Given the description of an element on the screen output the (x, y) to click on. 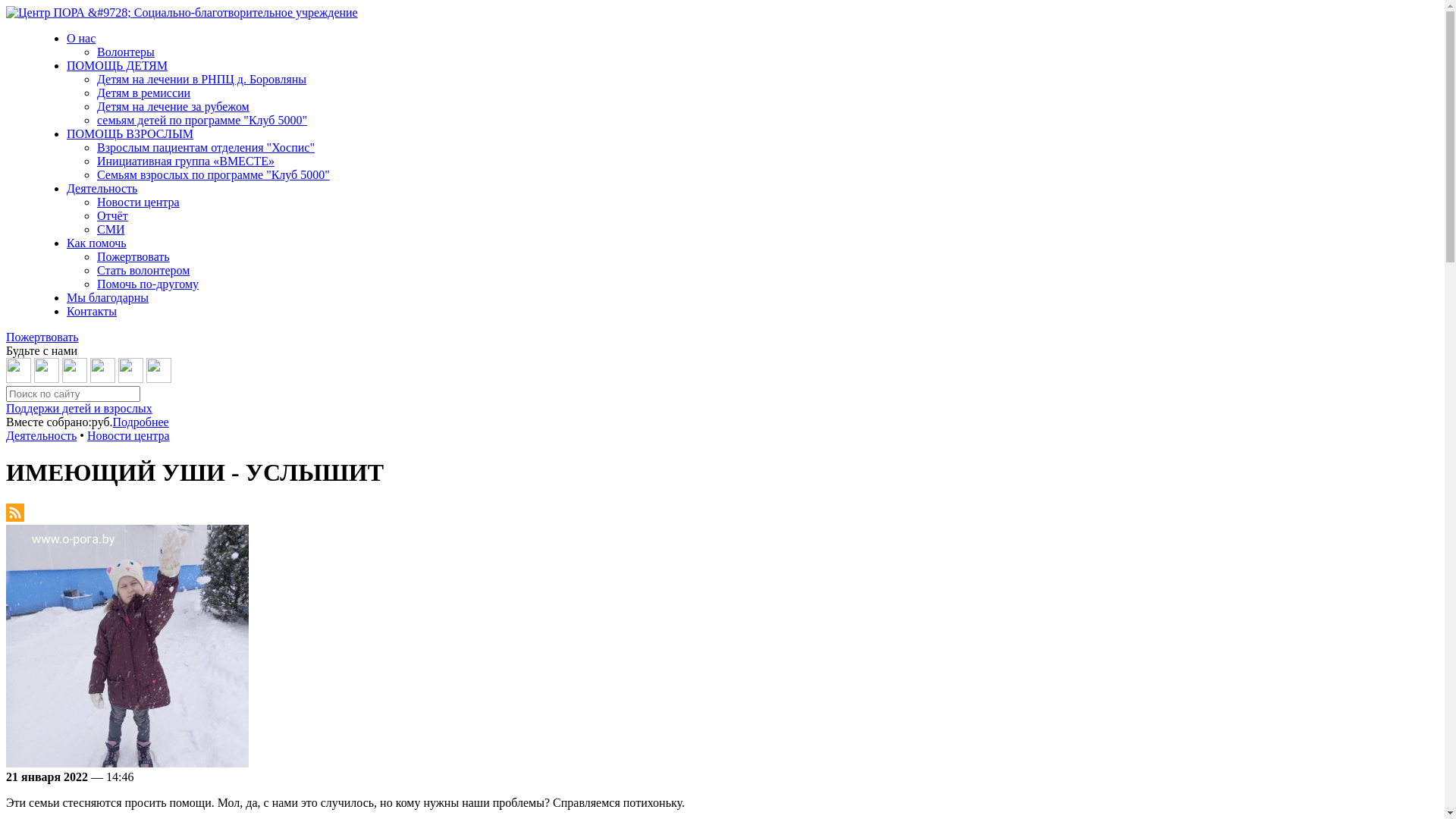
RSS Element type: hover (15, 517)
